Given the description of an element on the screen output the (x, y) to click on. 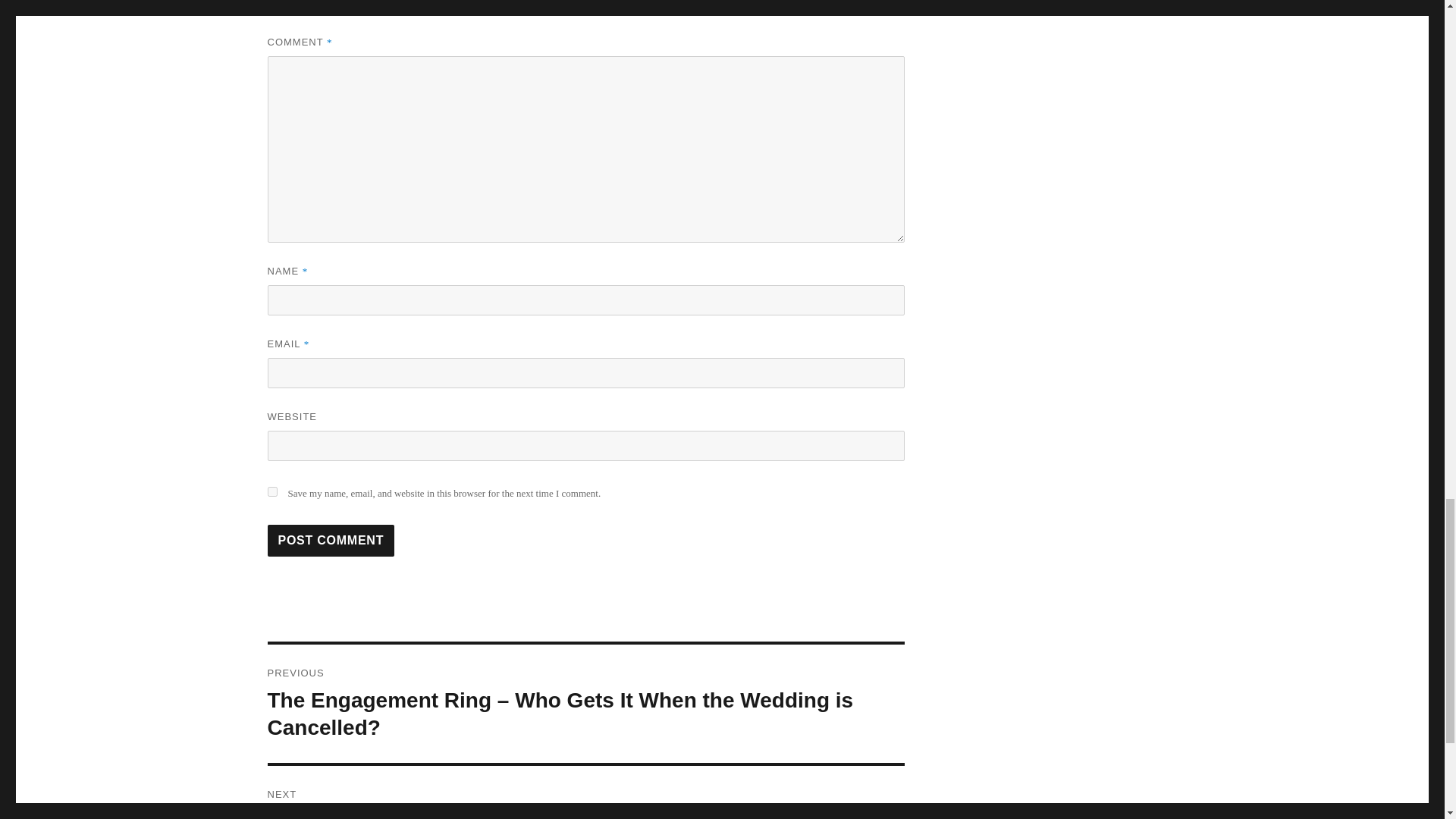
yes (271, 491)
Post Comment (330, 540)
Post Comment (585, 792)
